Given the description of an element on the screen output the (x, y) to click on. 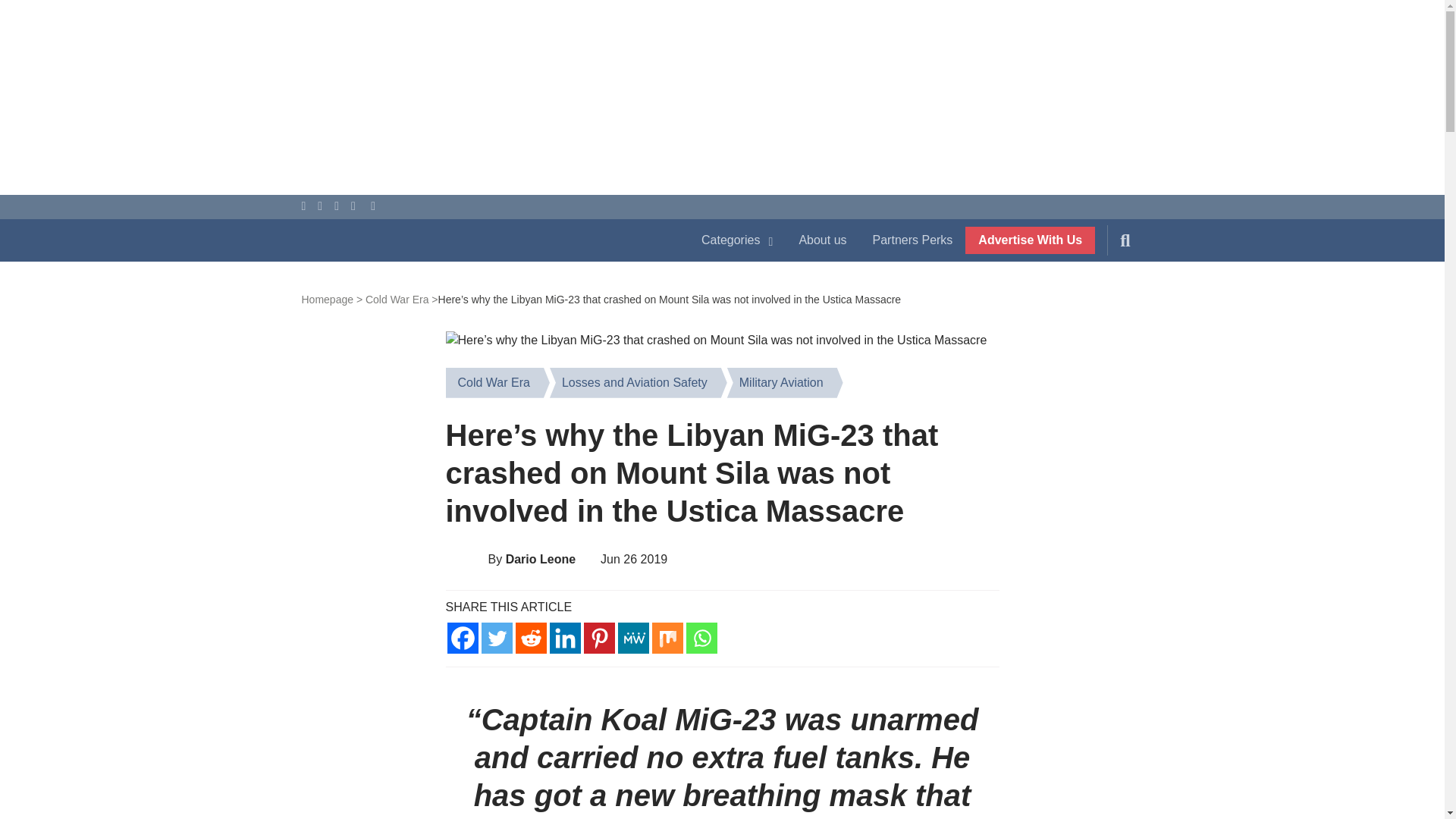
Advertise With Us (1029, 239)
Back to homepage (331, 299)
Facebook (462, 637)
Twitter (496, 637)
Partners Perks (913, 239)
Categories (737, 239)
Back to Home (485, 242)
About us (822, 239)
